Given the description of an element on the screen output the (x, y) to click on. 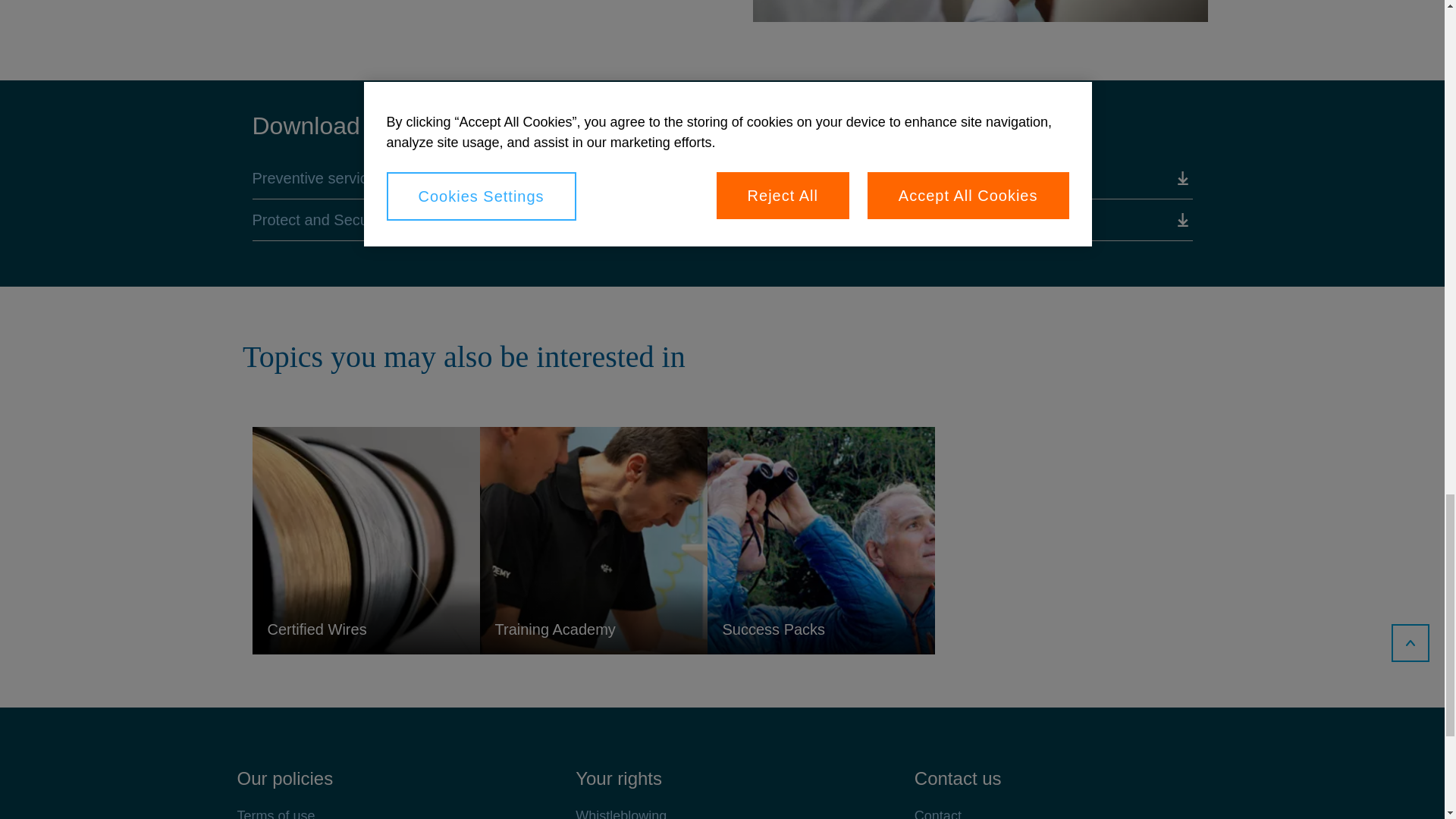
to top (1410, 641)
